Given the description of an element on the screen output the (x, y) to click on. 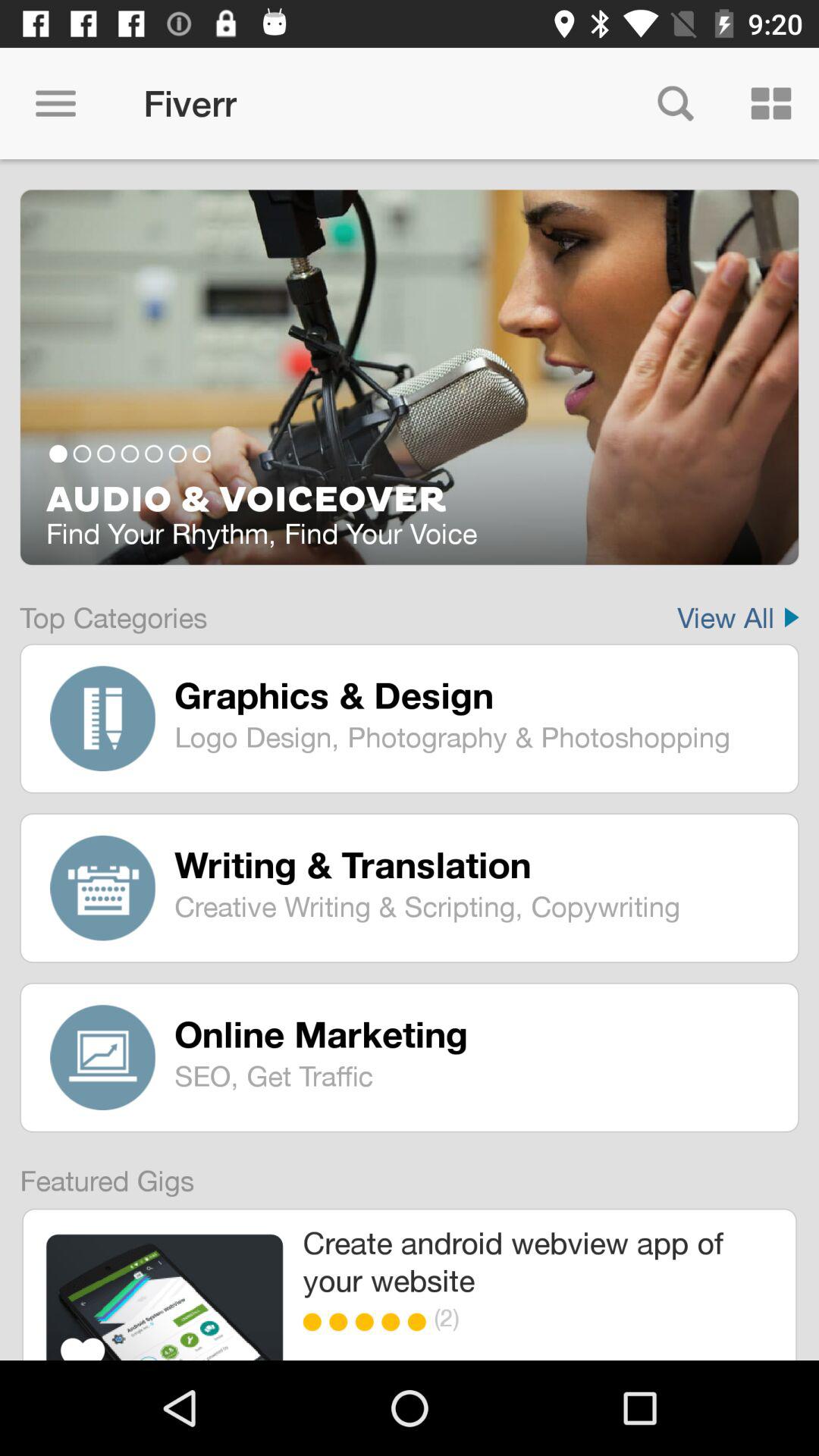
press the featured gigs item (96, 1174)
